Given the description of an element on the screen output the (x, y) to click on. 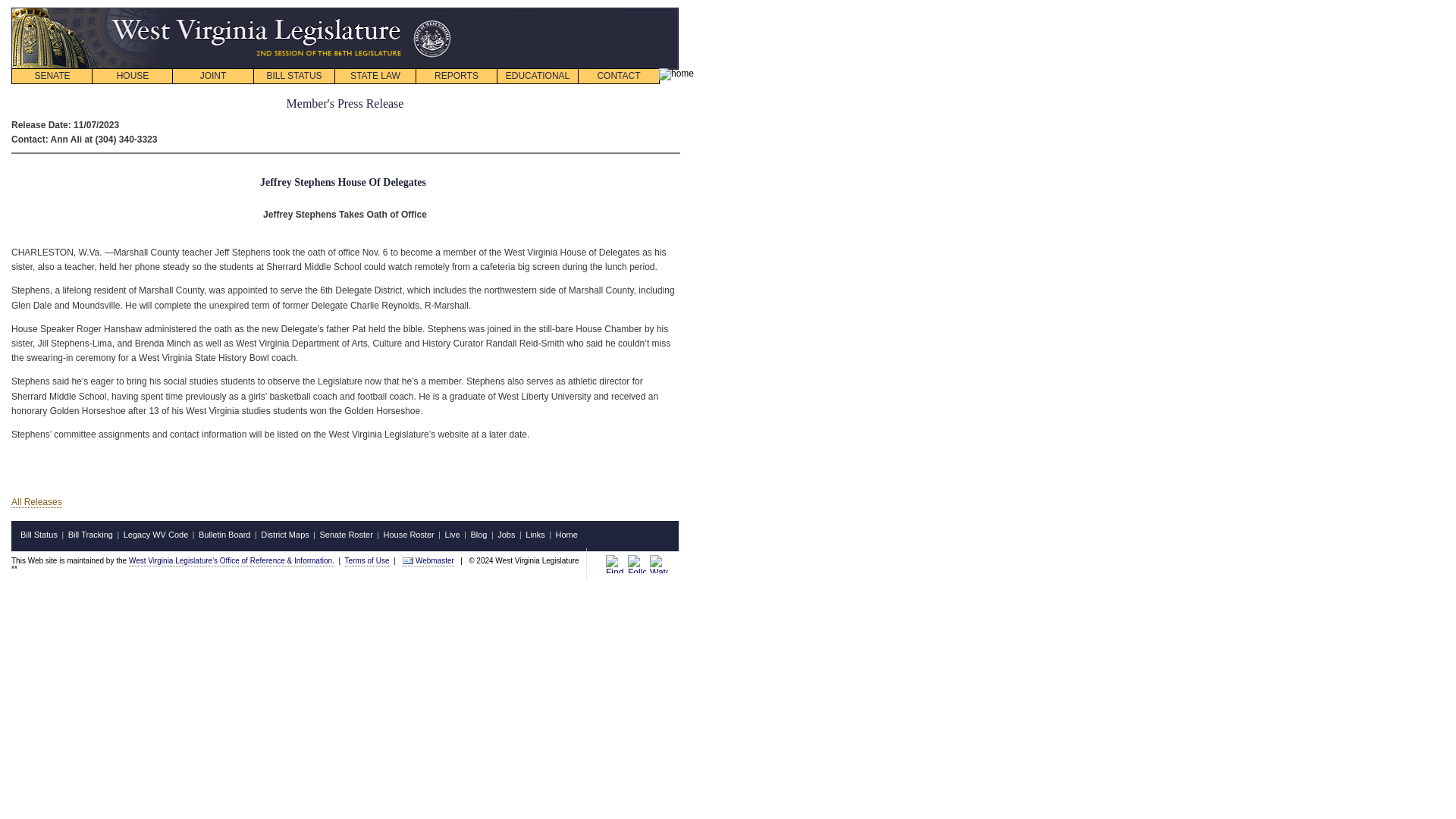
Follow on Twitter (636, 564)
STATE LAW (375, 75)
Watch on YouTube (658, 564)
JOINT (212, 75)
HOUSE (132, 75)
Email Webmaster (407, 560)
SENATE (52, 75)
Find on Facebook (614, 564)
BILL STATUS (293, 75)
